Given the description of an element on the screen output the (x, y) to click on. 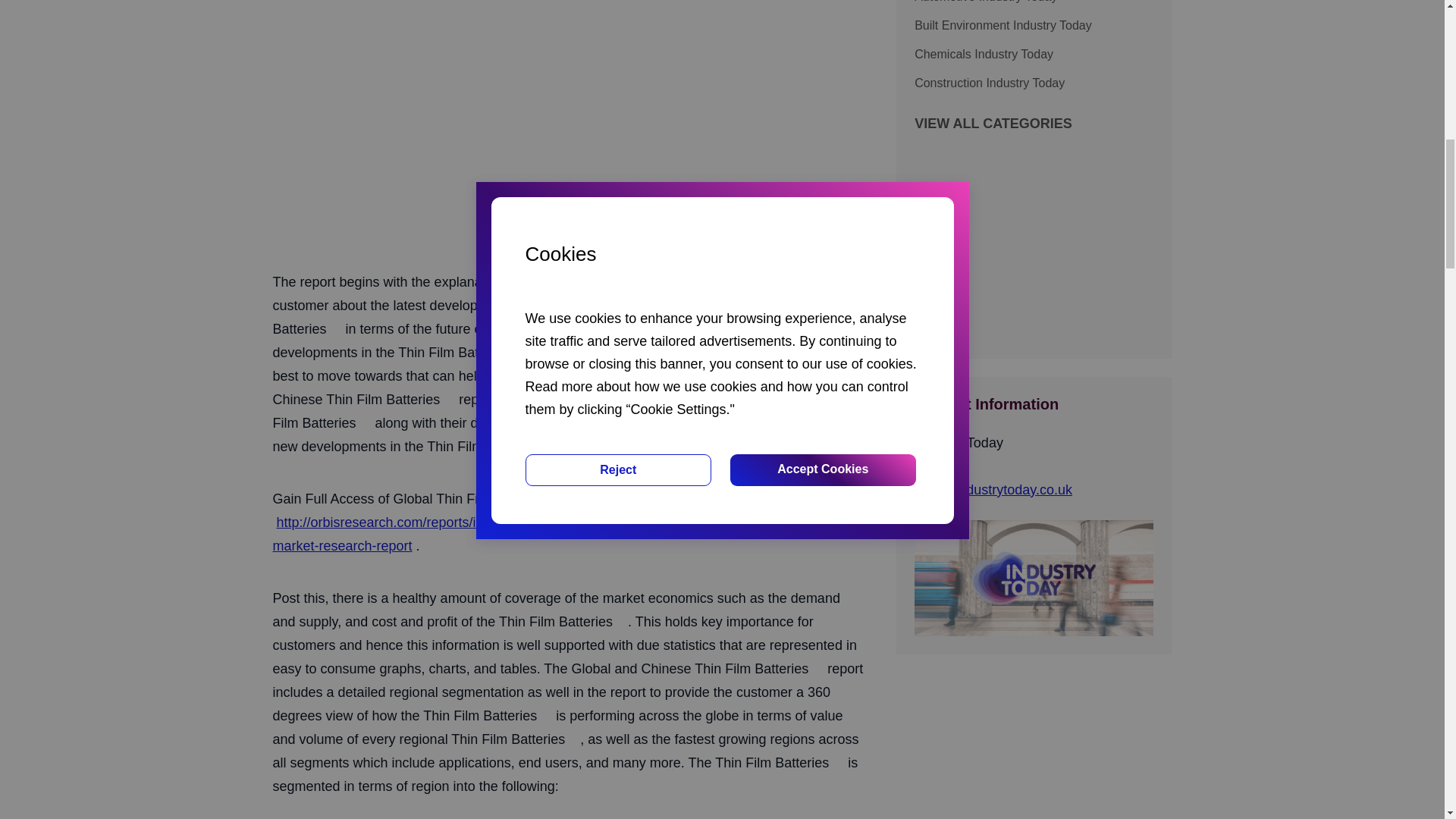
Advertisement (569, 135)
Construction Industry Today (1033, 83)
Automotive Industry Today (1033, 4)
VIEW ALL CATEGORIES (992, 123)
Built Environment Industry Today (1033, 25)
Advertisement (1033, 237)
Chemicals Industry Today (1033, 54)
